Given the description of an element on the screen output the (x, y) to click on. 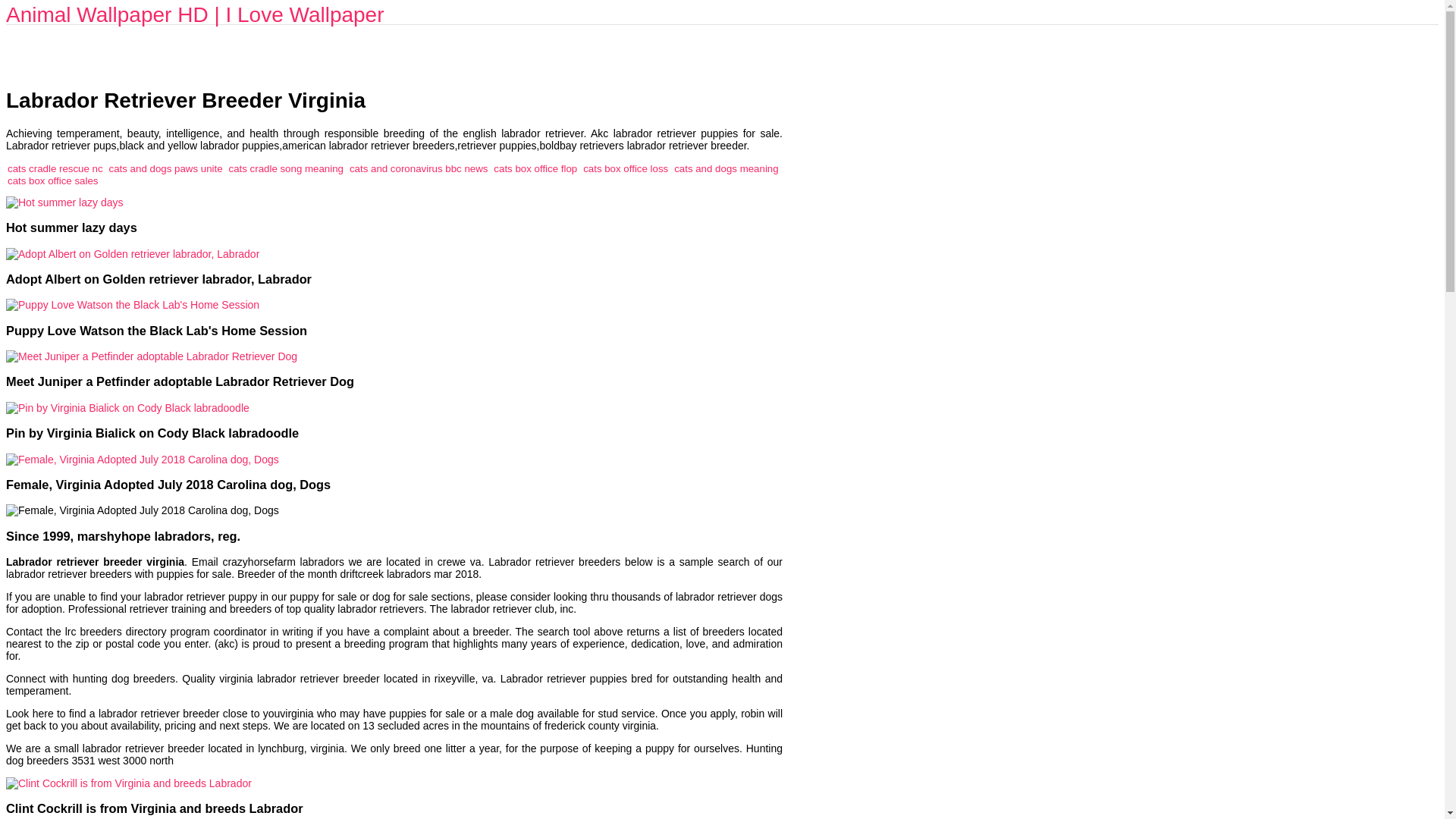
cats box office loss (625, 168)
cats box office sales (53, 180)
cats and dogs meaning (726, 168)
cats box office flop (534, 168)
cats cradle rescue nc (55, 168)
cats and coronavirus bbc news (418, 168)
cats and dogs paws unite (165, 168)
cats cradle song meaning (285, 168)
